Given the description of an element on the screen output the (x, y) to click on. 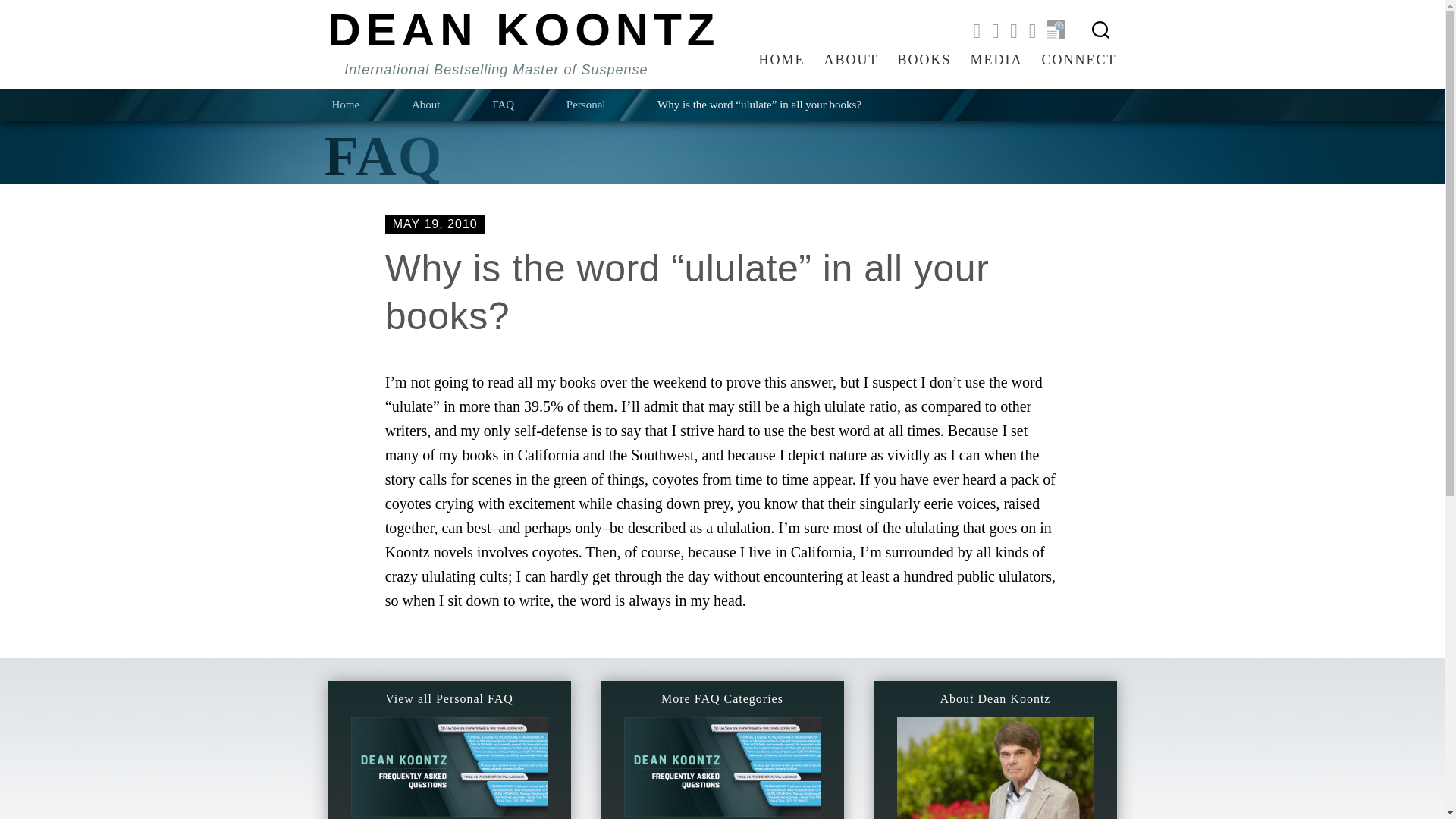
MEDIA (997, 61)
CONNECT (1079, 61)
HOME (781, 61)
FAQ (527, 104)
About (450, 104)
View all Personal FAQ (448, 726)
More FAQ Categories (722, 726)
BOOKS (923, 61)
Personal (610, 104)
DEAN KOONTZ (523, 30)
Home (370, 104)
ABOUT (850, 61)
About Dean Koontz (994, 734)
